Given the description of an element on the screen output the (x, y) to click on. 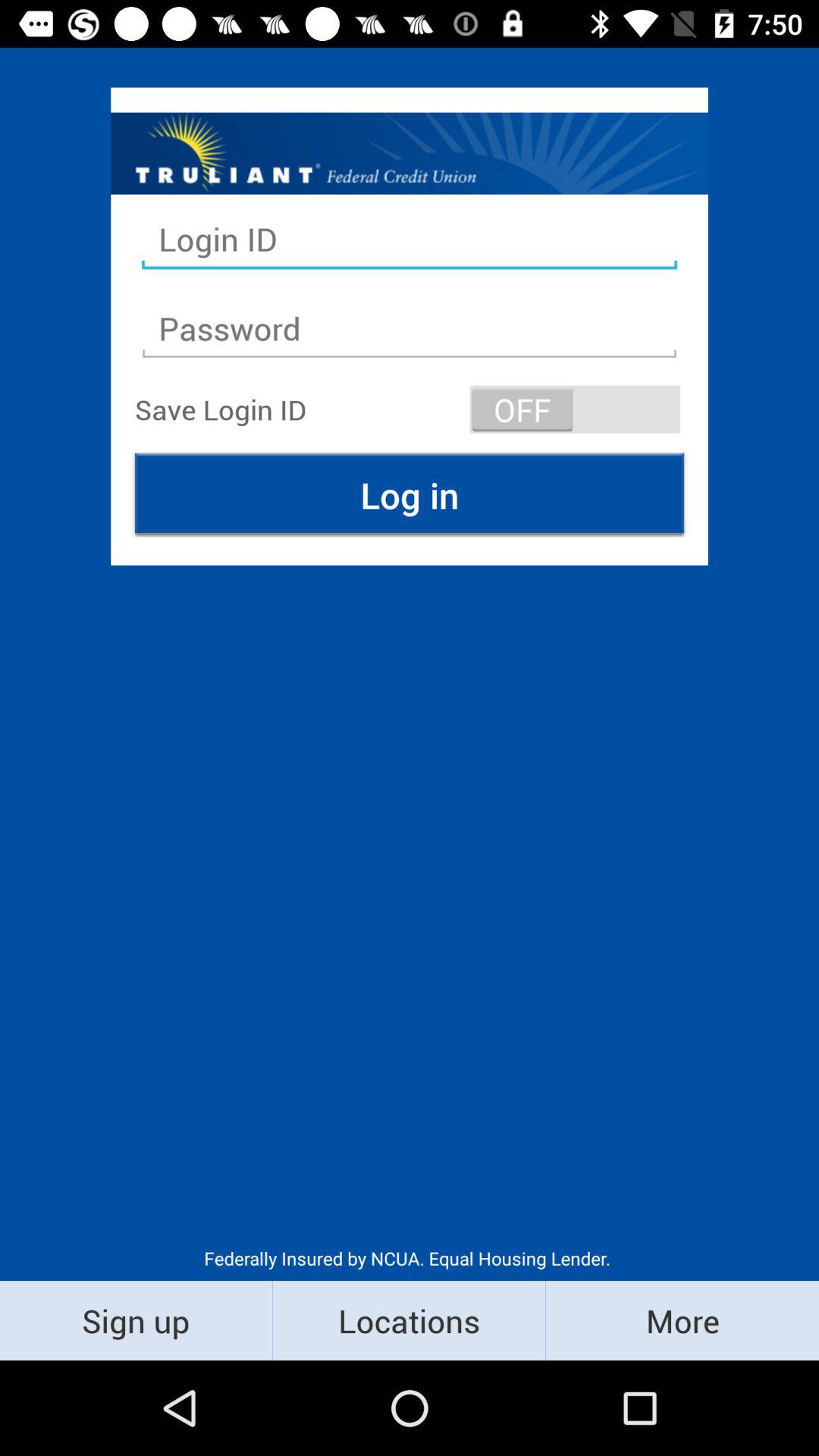
swipe to locations item (409, 1320)
